Given the description of an element on the screen output the (x, y) to click on. 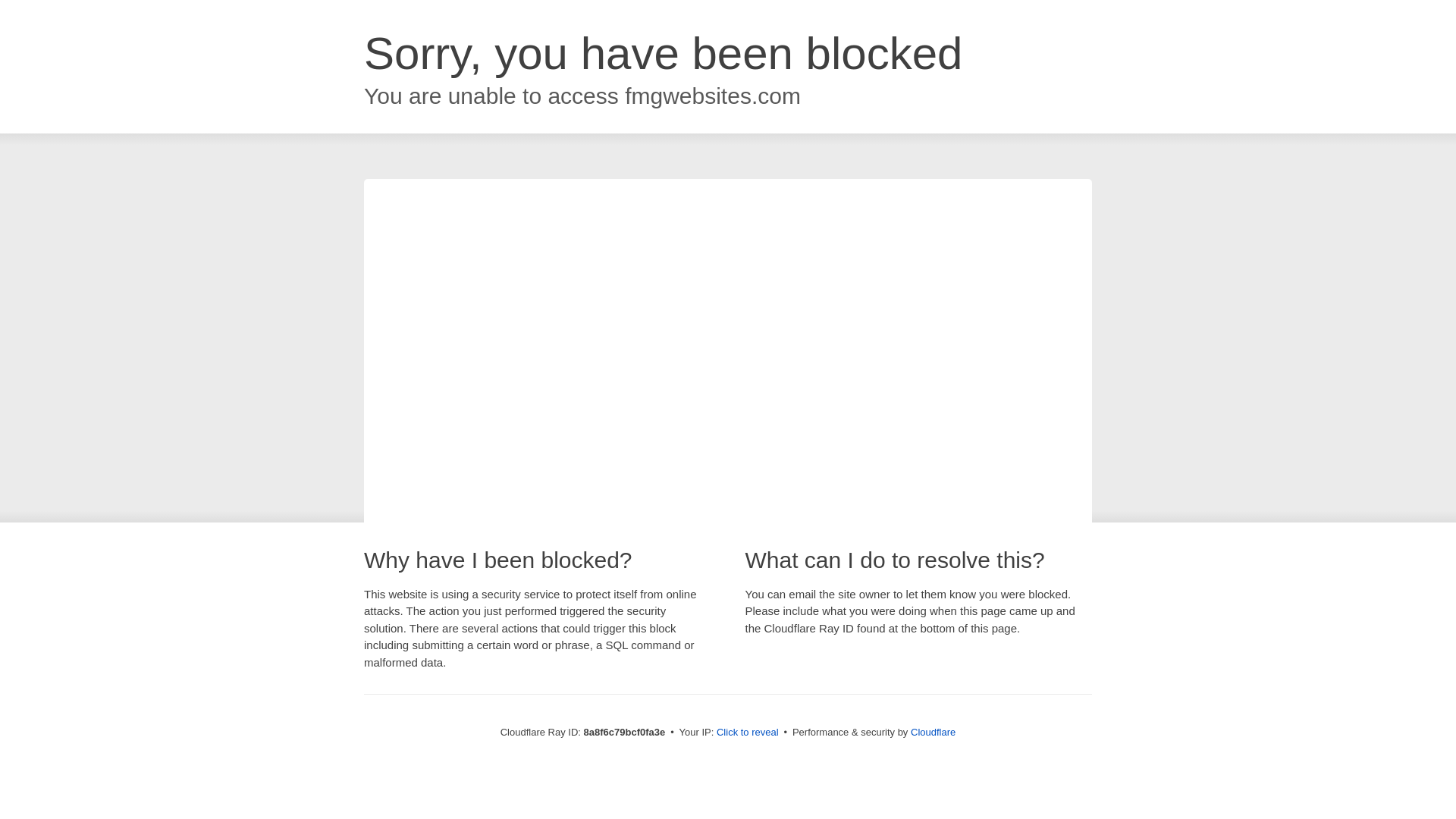
Click to reveal (747, 732)
Cloudflare (933, 731)
